Given the description of an element on the screen output the (x, y) to click on. 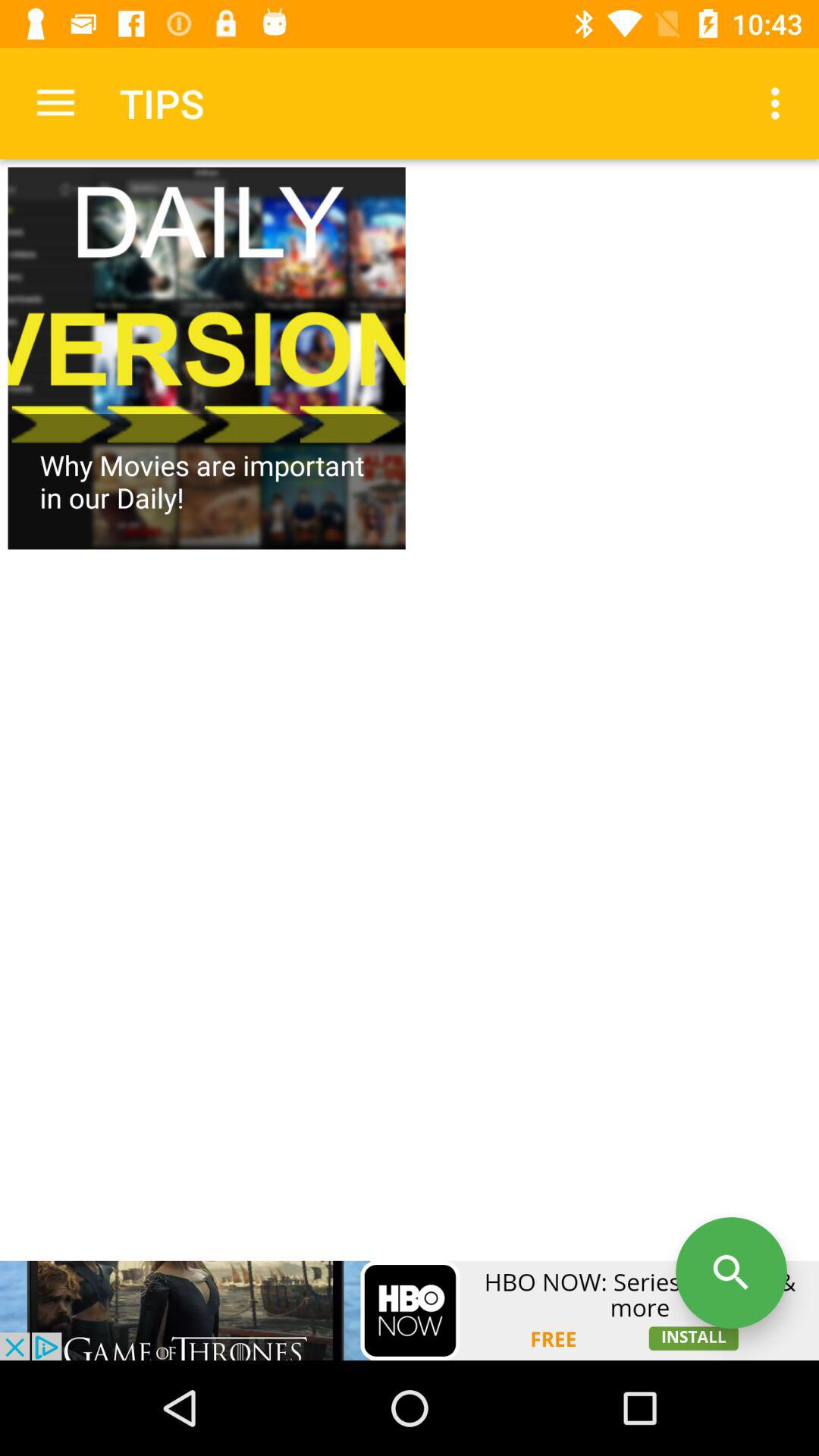
search (731, 1272)
